Given the description of an element on the screen output the (x, y) to click on. 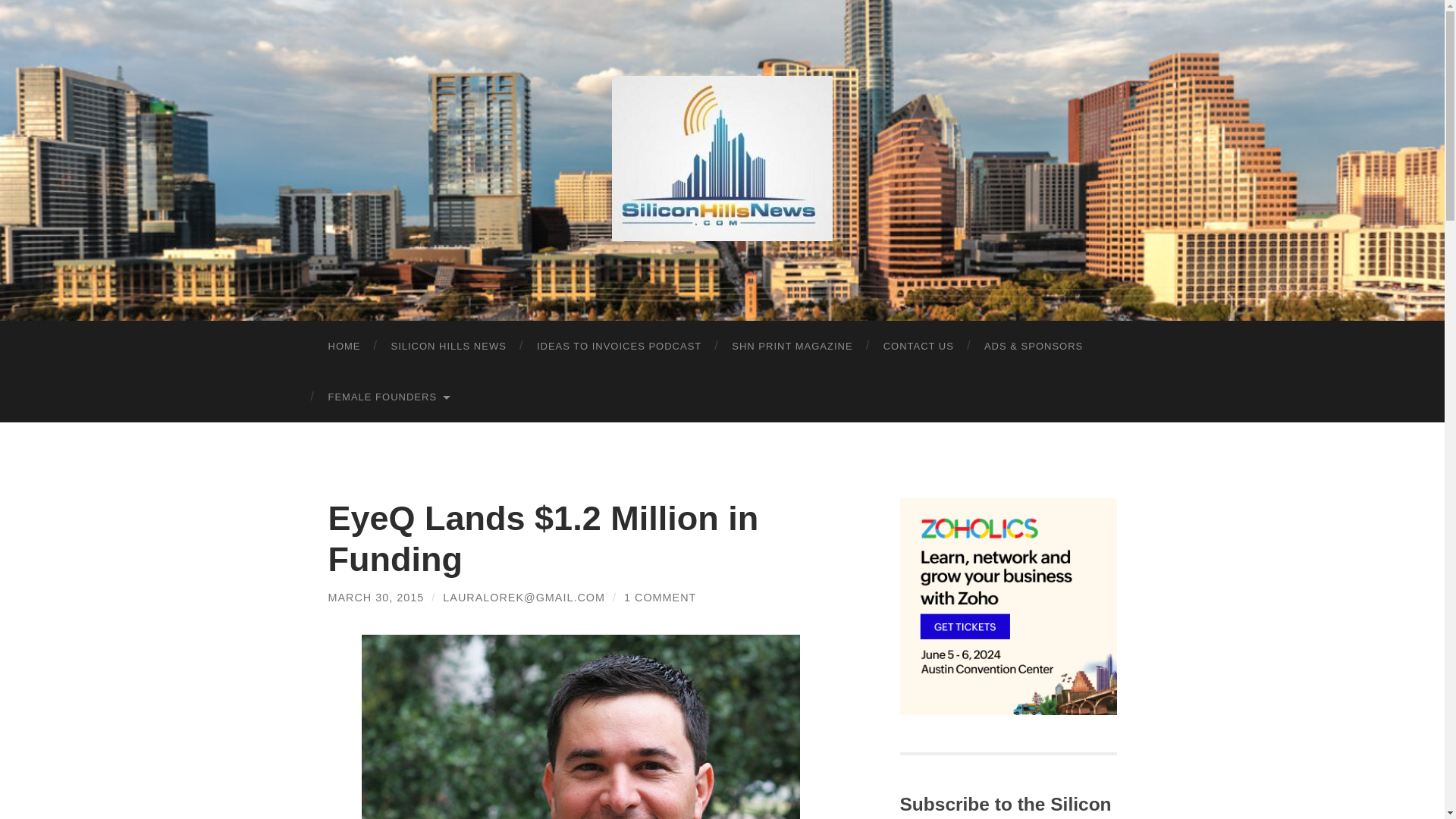
SILICON HILLS NEWS (448, 346)
CONTACT US (918, 346)
IDEAS TO INVOICES PODCAST (618, 346)
HOME (344, 346)
SiliconHills (721, 158)
FEMALE FOUNDERS (388, 396)
1 COMMENT (659, 597)
MARCH 30, 2015 (375, 597)
SHN PRINT MAGAZINE (791, 346)
